Given the description of an element on the screen output the (x, y) to click on. 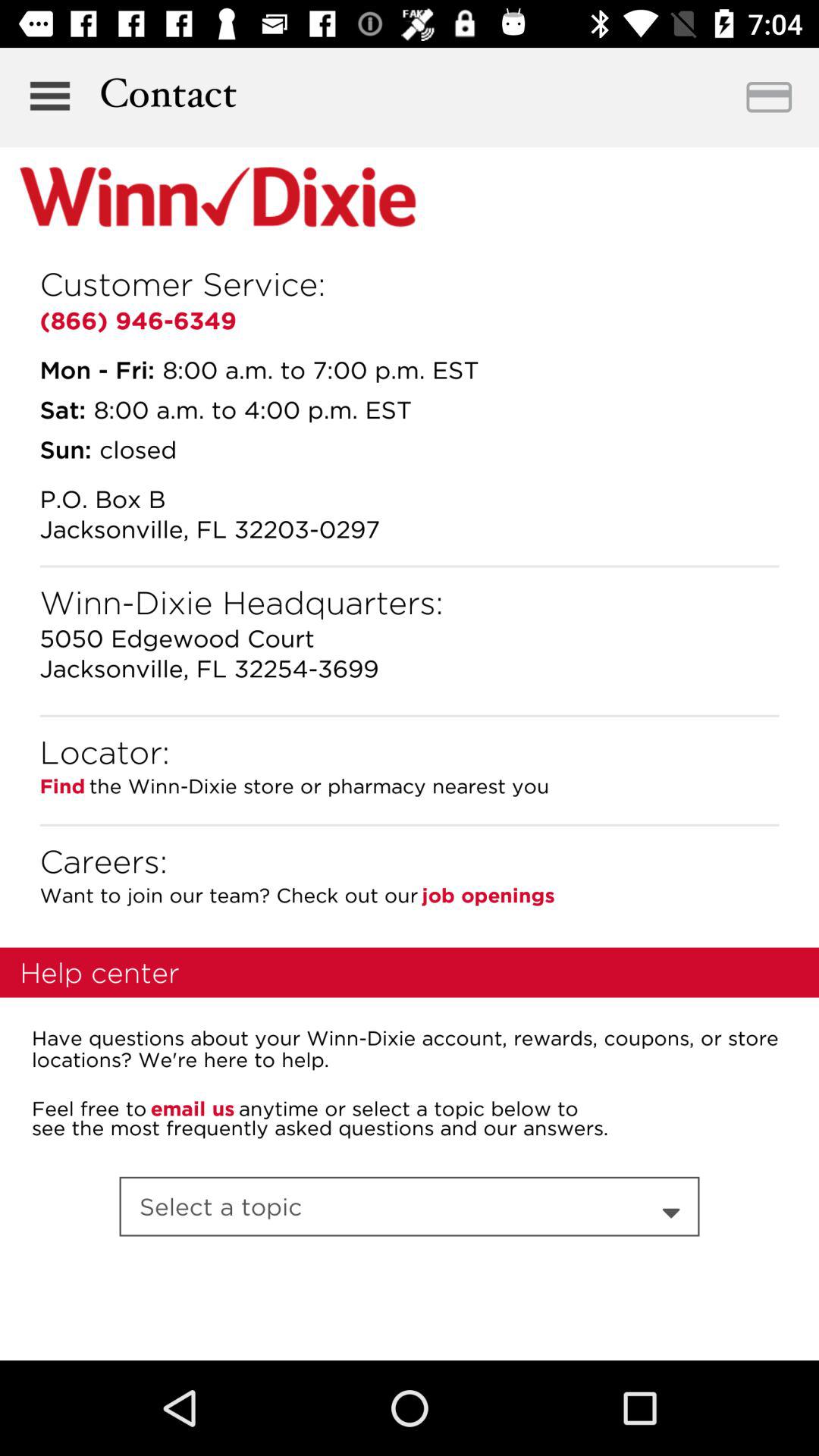
tap the item below have questions about item (408, 1108)
